Given the description of an element on the screen output the (x, y) to click on. 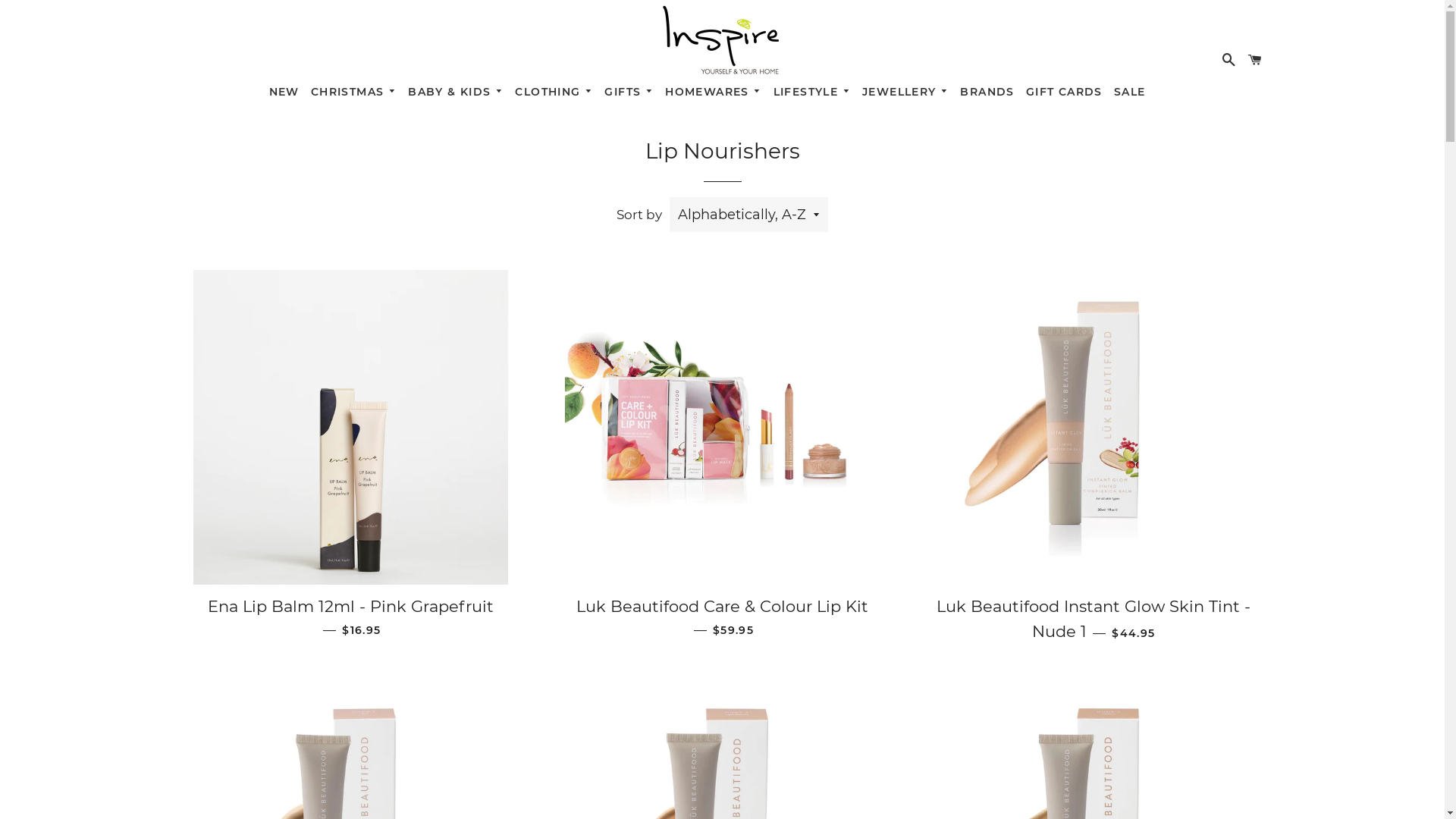
BABY & KIDS Element type: text (455, 89)
SALE Element type: text (1129, 89)
CLOTHING Element type: text (554, 89)
NEW Element type: text (283, 89)
GIFTS Element type: text (629, 89)
JEWELLERY Element type: text (905, 89)
LIFESTYLE Element type: text (811, 89)
BASKET Element type: text (1254, 57)
SEARCH Element type: text (1229, 57)
CHRISTMAS Element type: text (352, 89)
HOMEWARES Element type: text (713, 89)
BRANDS Element type: text (986, 89)
GIFT CARDS Element type: text (1063, 89)
